Given the description of an element on the screen output the (x, y) to click on. 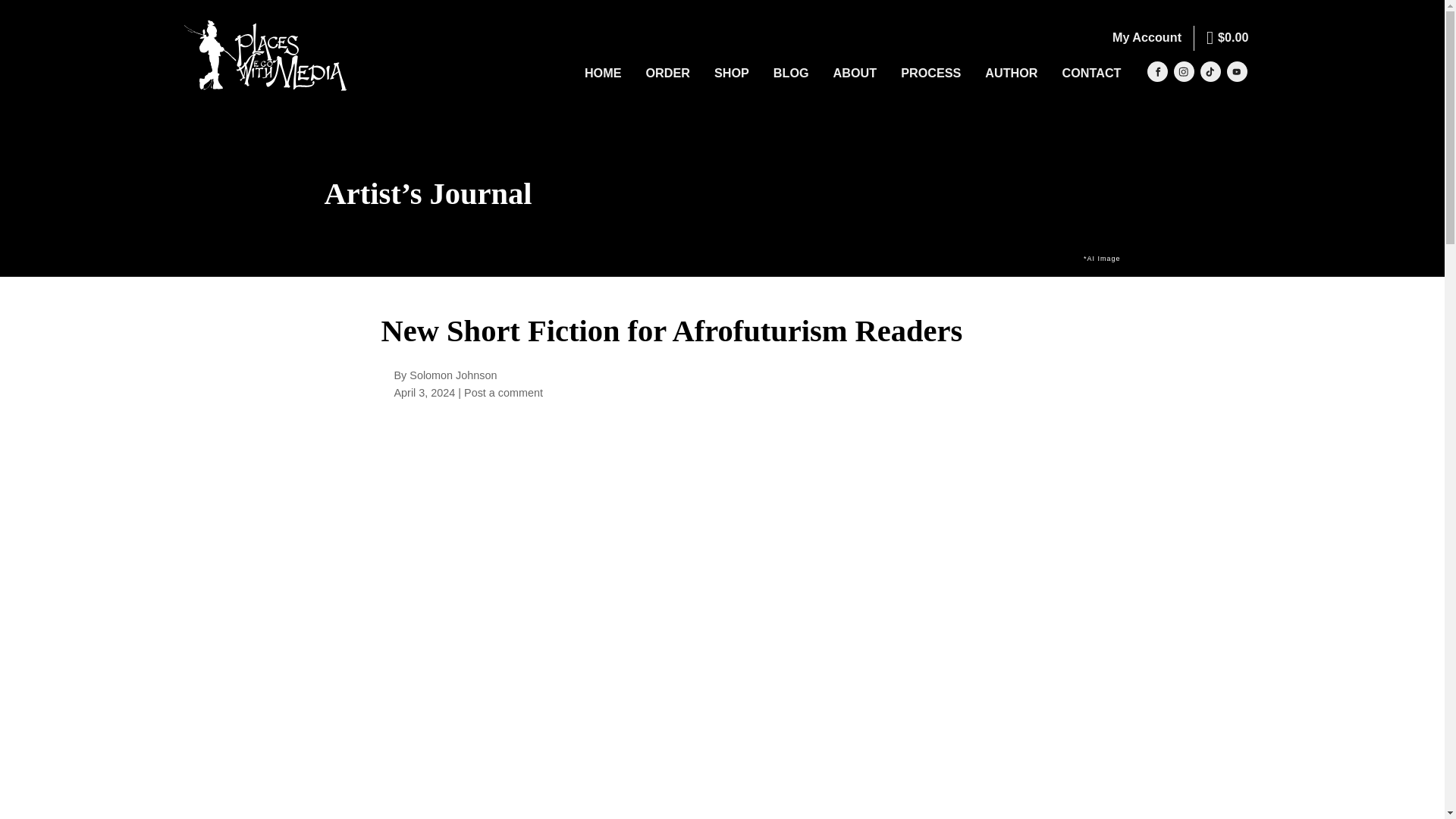
AUTHOR (1010, 73)
Instagram (1183, 71)
PROCESS (930, 73)
Post a comment (503, 392)
BLOG (791, 73)
ABOUT (855, 73)
HOME (602, 73)
CONTACT (1091, 73)
My Account (1146, 37)
Start shopping (1226, 37)
Facebook (1157, 71)
Tiktok (1209, 71)
SHOP (731, 73)
Youtube (1237, 71)
ORDER (667, 73)
